Given the description of an element on the screen output the (x, y) to click on. 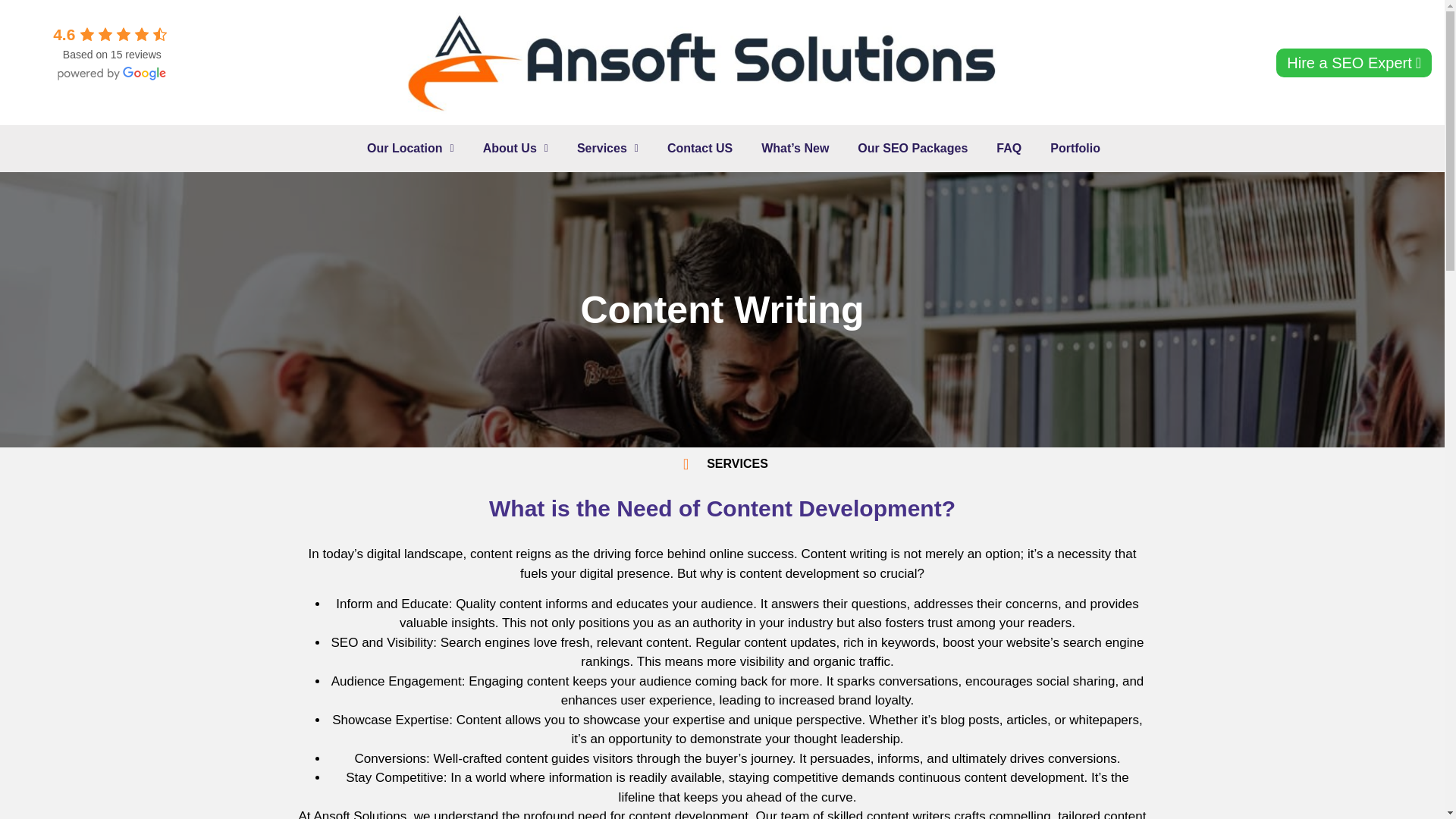
FAQ (1008, 148)
Services (607, 148)
Hire a SEO Expert (1353, 62)
Portfolio (1075, 148)
Our SEO Packages (912, 148)
Contact US (699, 148)
Our Location (410, 148)
About Us (515, 148)
powered by Google (112, 73)
